Given the description of an element on the screen output the (x, y) to click on. 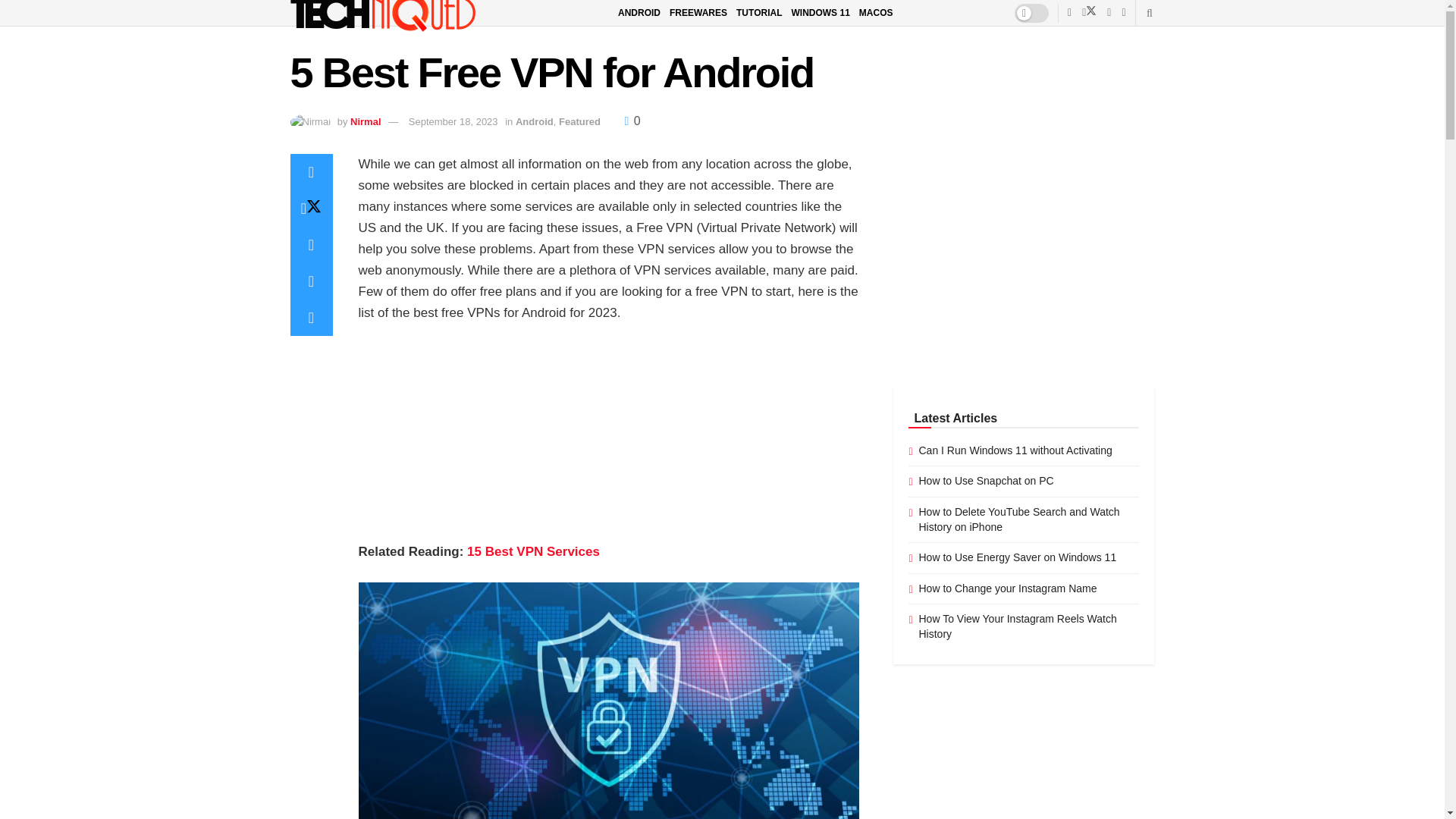
0 (632, 120)
Android (534, 121)
Nirmal (365, 121)
September 18, 2023 (453, 121)
FREEWARES (697, 12)
WINDOWS 11 (819, 12)
ANDROID (639, 12)
TUTORIAL (758, 12)
Featured (579, 121)
MACOS (876, 12)
